Given the description of an element on the screen output the (x, y) to click on. 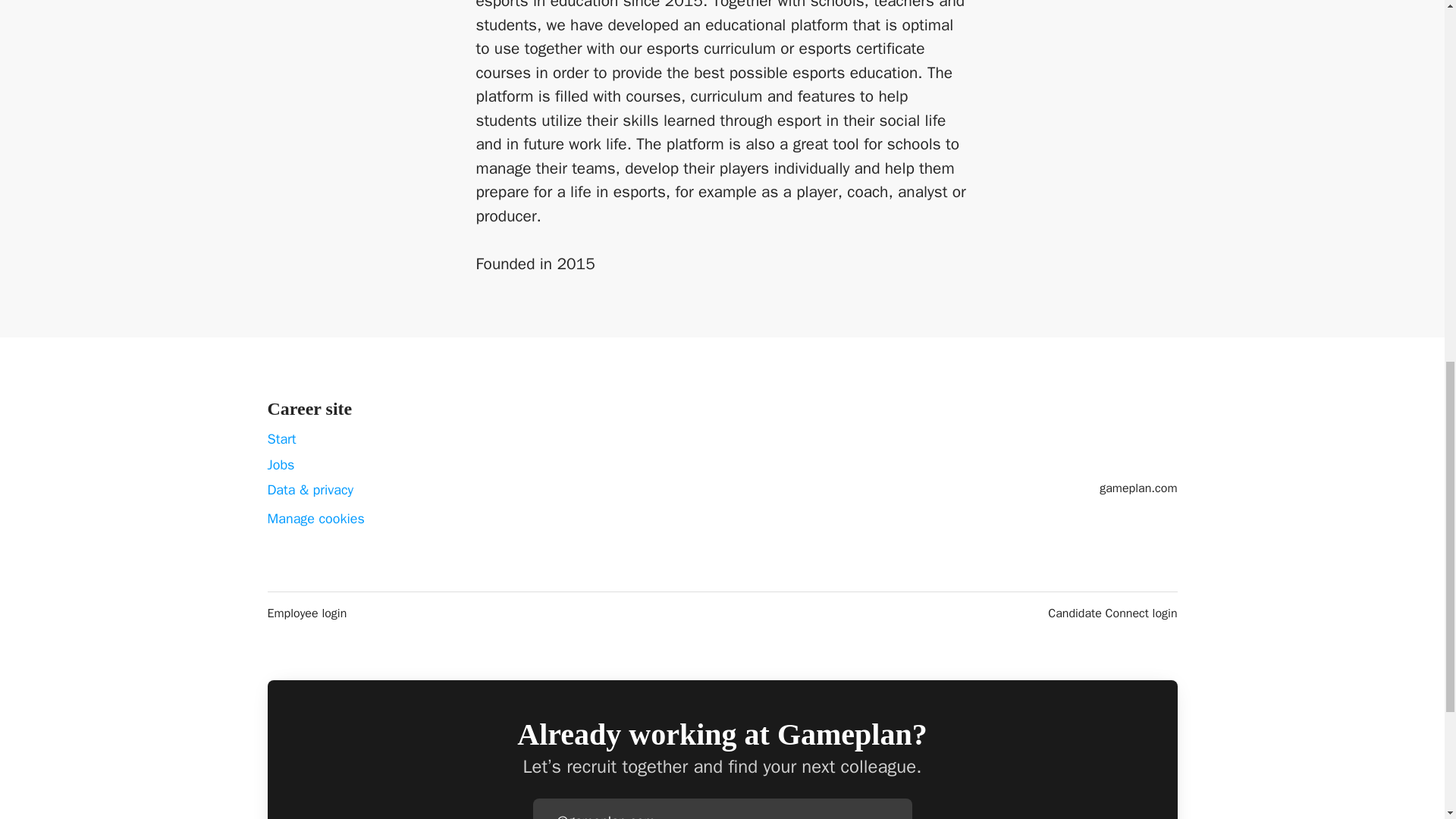
gameplan.com (1137, 487)
Candidate Connect login (1112, 613)
Jobs (280, 464)
Manage cookies (315, 518)
Employee login (306, 613)
Log in (899, 816)
Start (280, 438)
